Given the description of an element on the screen output the (x, y) to click on. 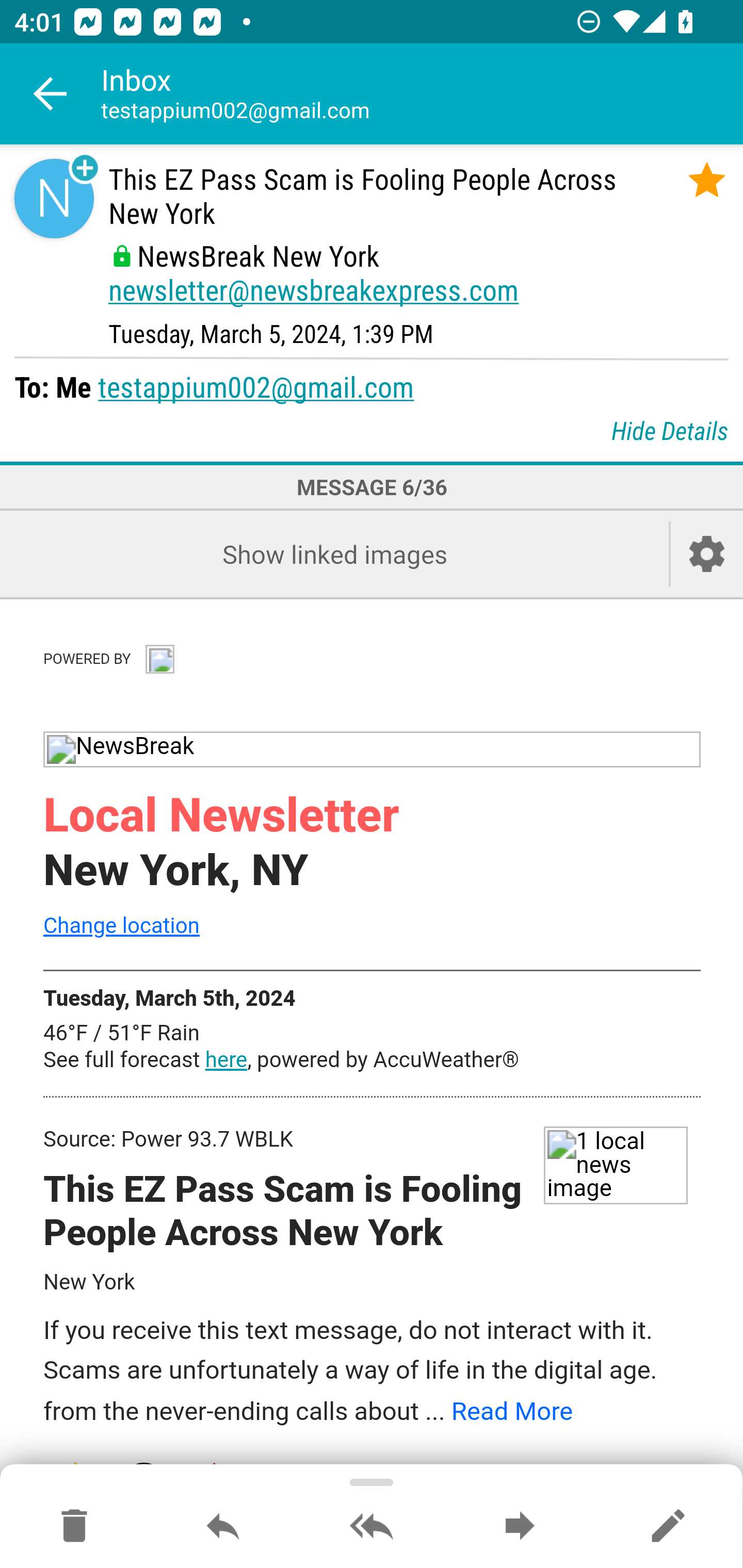
Navigate up (50, 93)
Inbox testappium002@gmail.com (422, 93)
Sender contact button (53, 198)
Show linked images (334, 554)
Account setup (706, 554)
info (159, 657)
Change location (121, 925)
here (225, 1060)
Move to Deleted (74, 1527)
Reply (222, 1527)
Reply all (371, 1527)
Forward (519, 1527)
Reply as new (667, 1527)
